Given the description of an element on the screen output the (x, y) to click on. 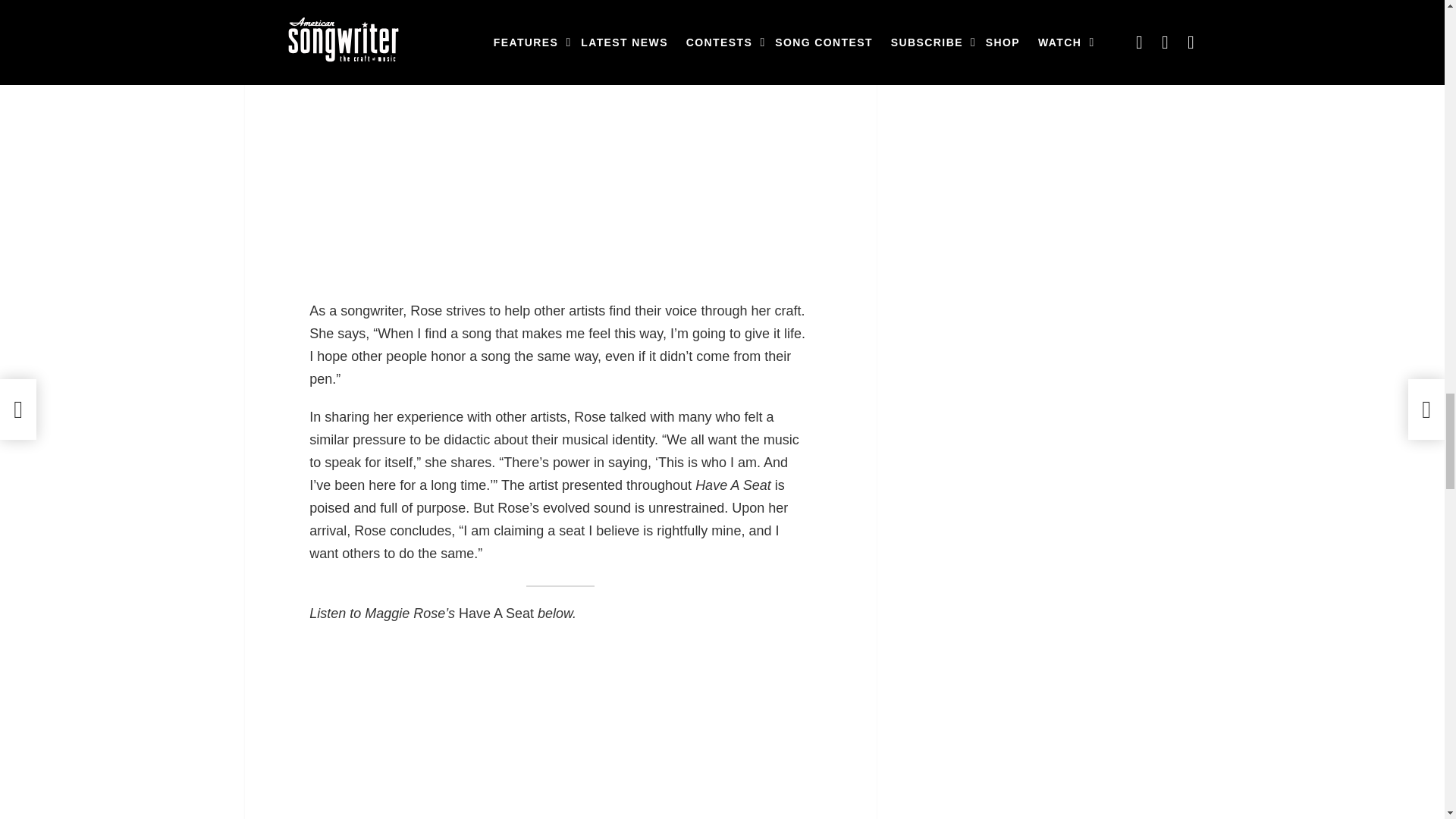
Spotify Embed: Have a Seat (559, 729)
